Given the description of an element on the screen output the (x, y) to click on. 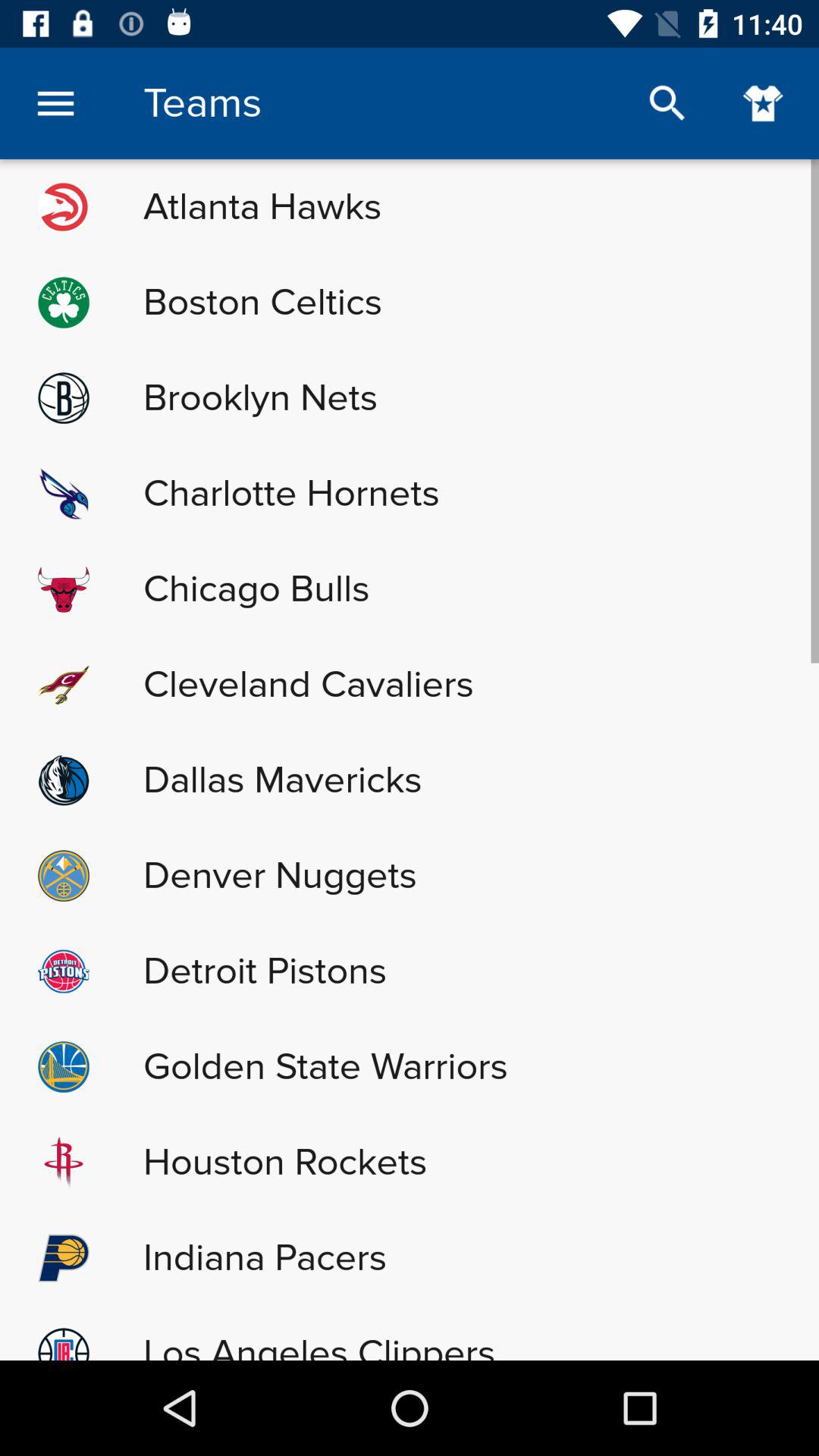
search teams (667, 103)
